Given the description of an element on the screen output the (x, y) to click on. 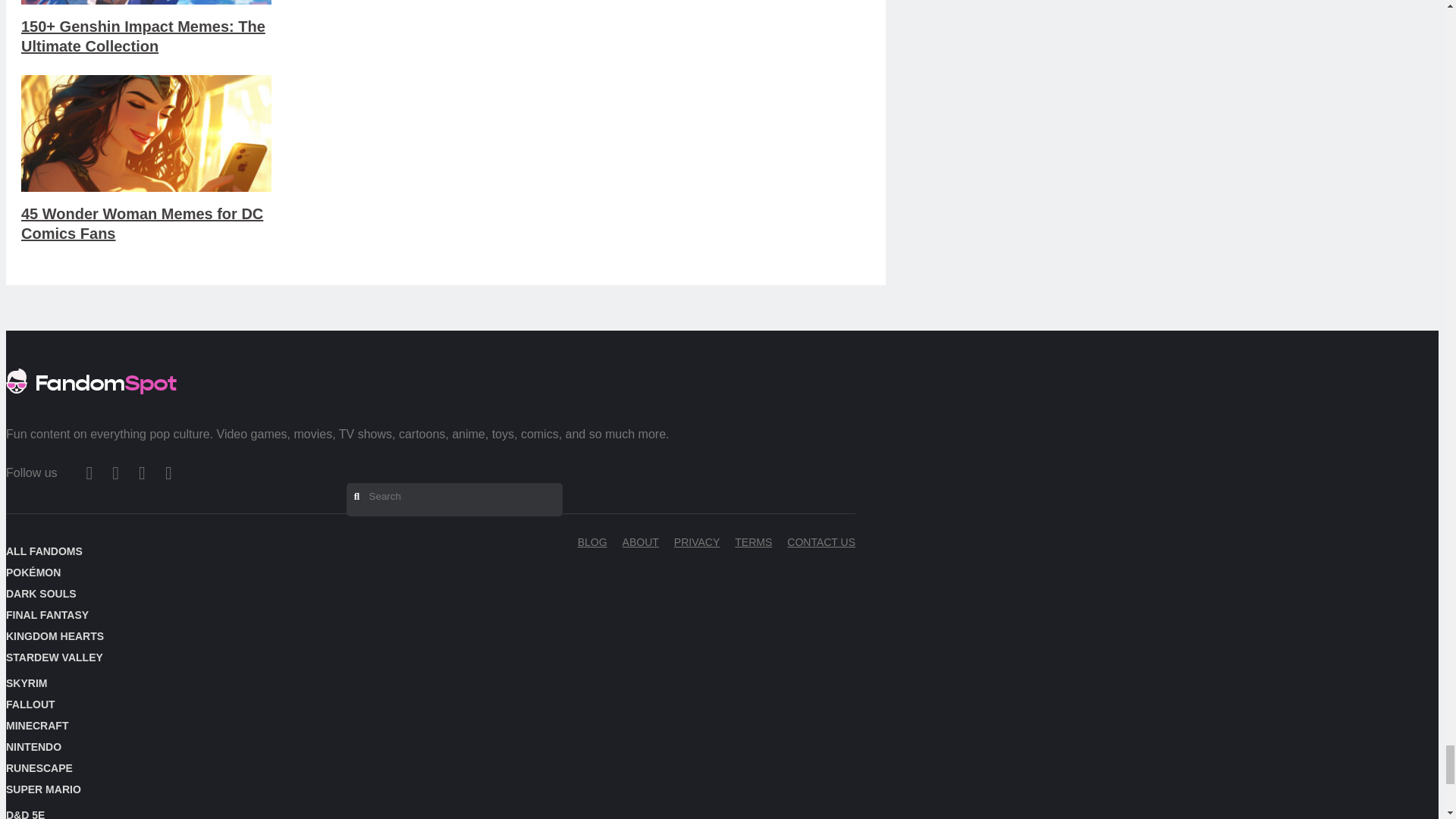
FandomSpot (90, 399)
